Given the description of an element on the screen output the (x, y) to click on. 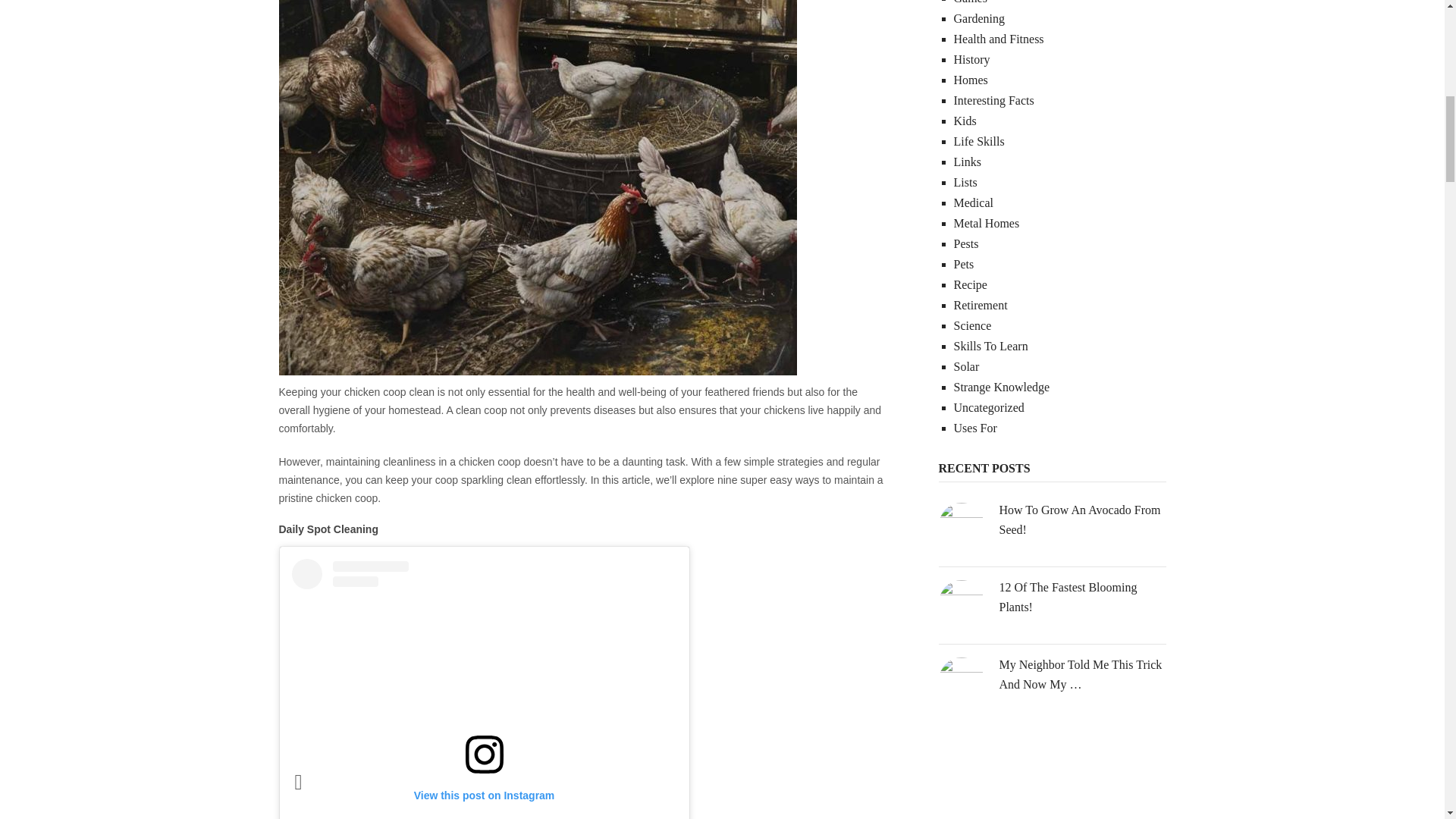
View this post on Instagram (484, 688)
